Given the description of an element on the screen output the (x, y) to click on. 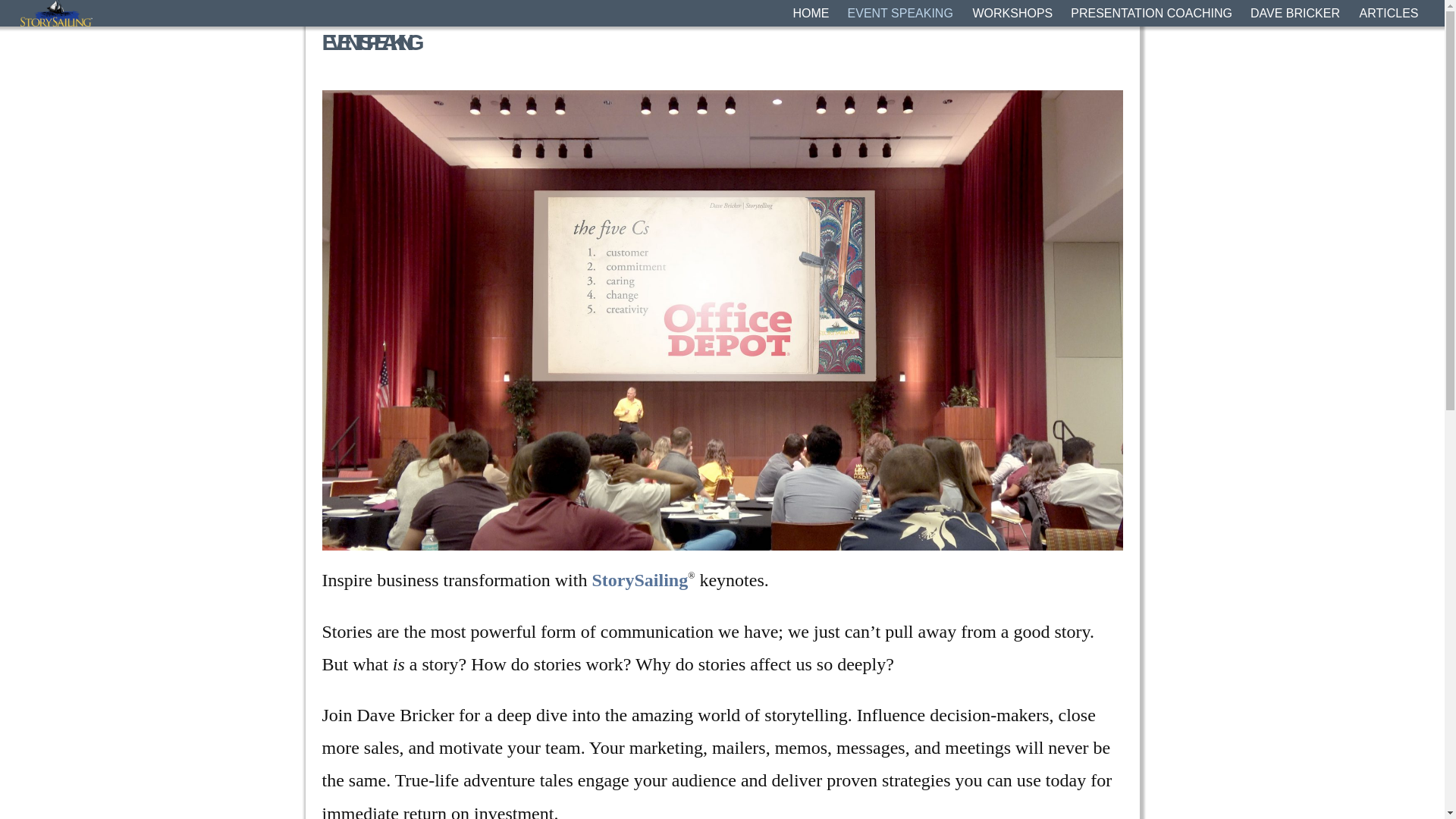
ARTICLES (1389, 13)
WORKSHOPS (1011, 13)
DAVE BRICKER (1296, 13)
HOME (811, 13)
StorySailing (639, 579)
PRESENTATION COACHING (1151, 13)
EVENT SPEAKING (900, 13)
